Given the description of an element on the screen output the (x, y) to click on. 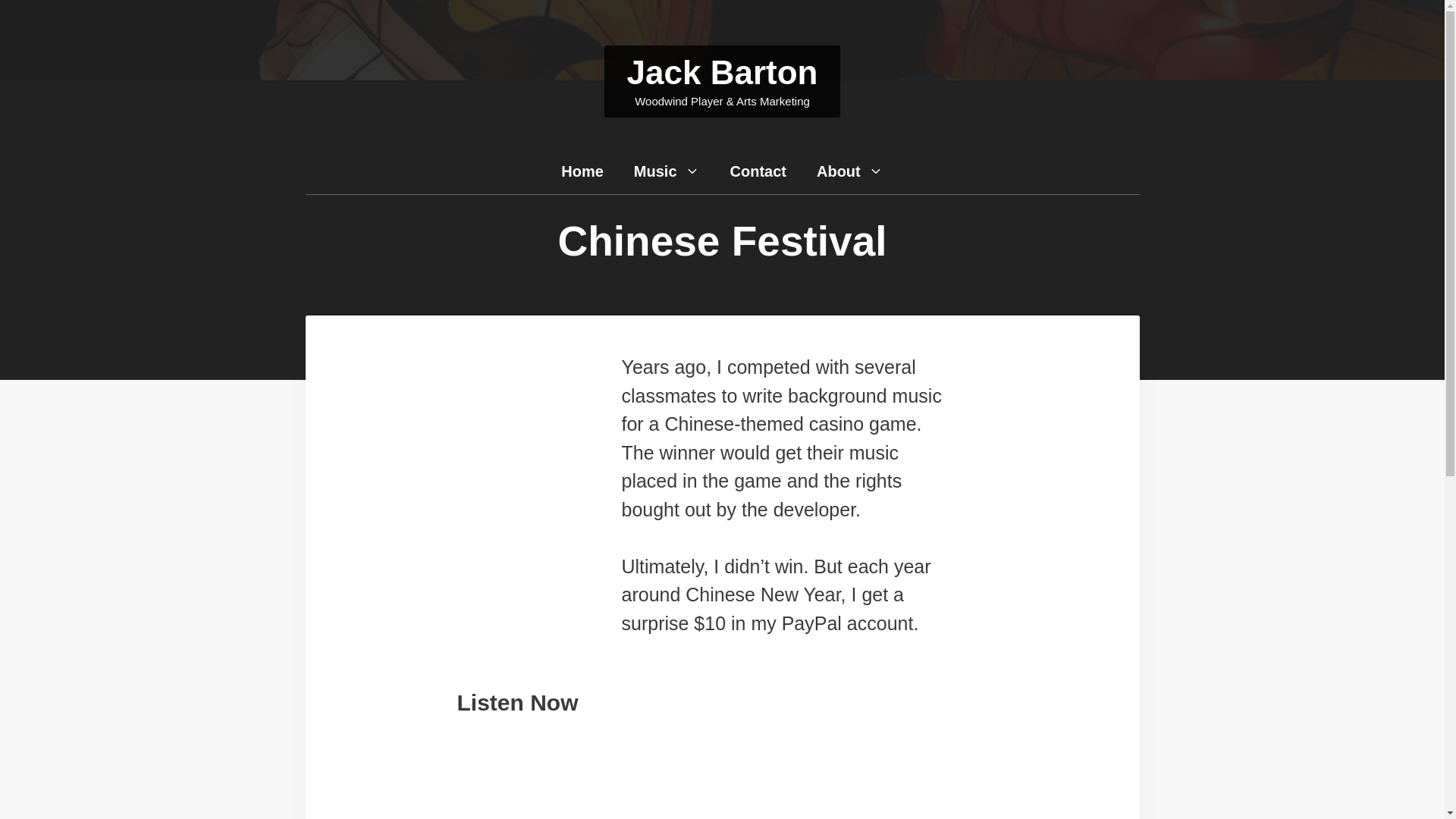
About (850, 171)
Contact (758, 171)
Music (666, 171)
Home (582, 171)
Jack Barton (722, 72)
